Given the description of an element on the screen output the (x, y) to click on. 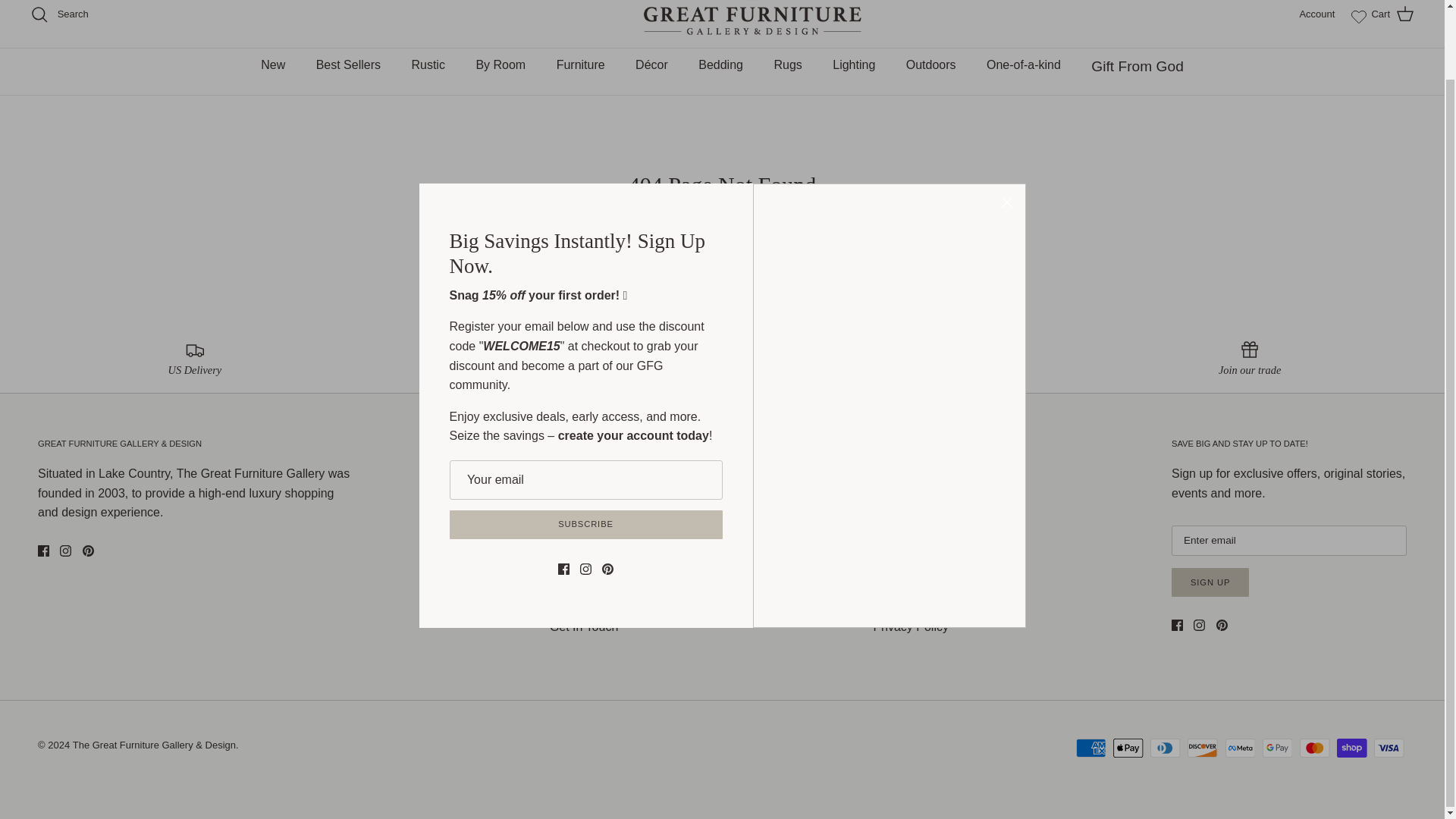
Search (59, 13)
Account (1316, 14)
Best Sellers (348, 64)
By Room (499, 64)
American Express (1090, 747)
Pinterest (1221, 624)
Google Pay (1277, 747)
Instagram (65, 550)
Instagram (1199, 624)
Diners Club (1165, 747)
Discover (1202, 747)
Apple Pay (1127, 747)
Cart (1392, 14)
Pinterest (88, 550)
Rustic (427, 64)
